Given the description of an element on the screen output the (x, y) to click on. 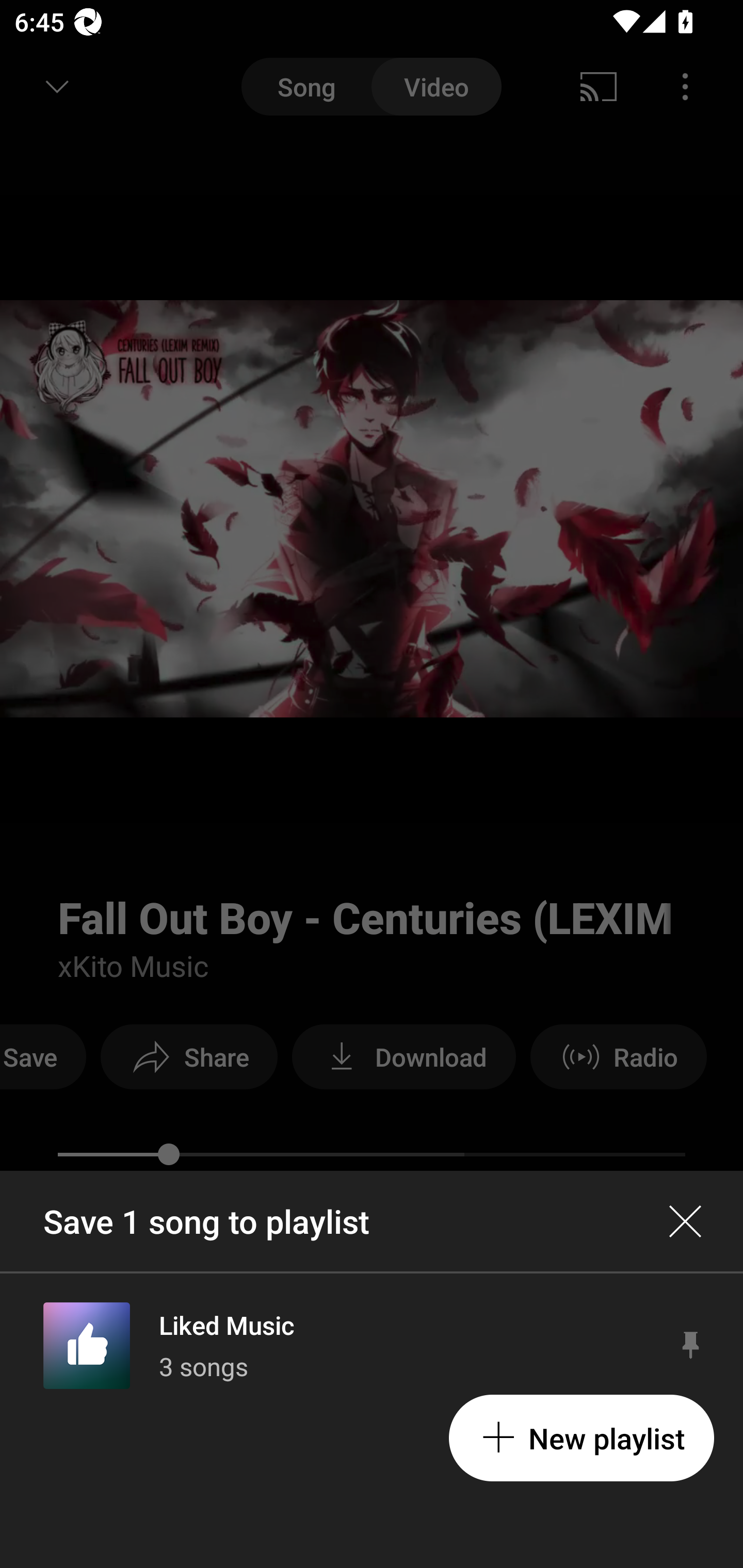
Close (685, 1221)
New playlist (581, 1437)
